Given the description of an element on the screen output the (x, y) to click on. 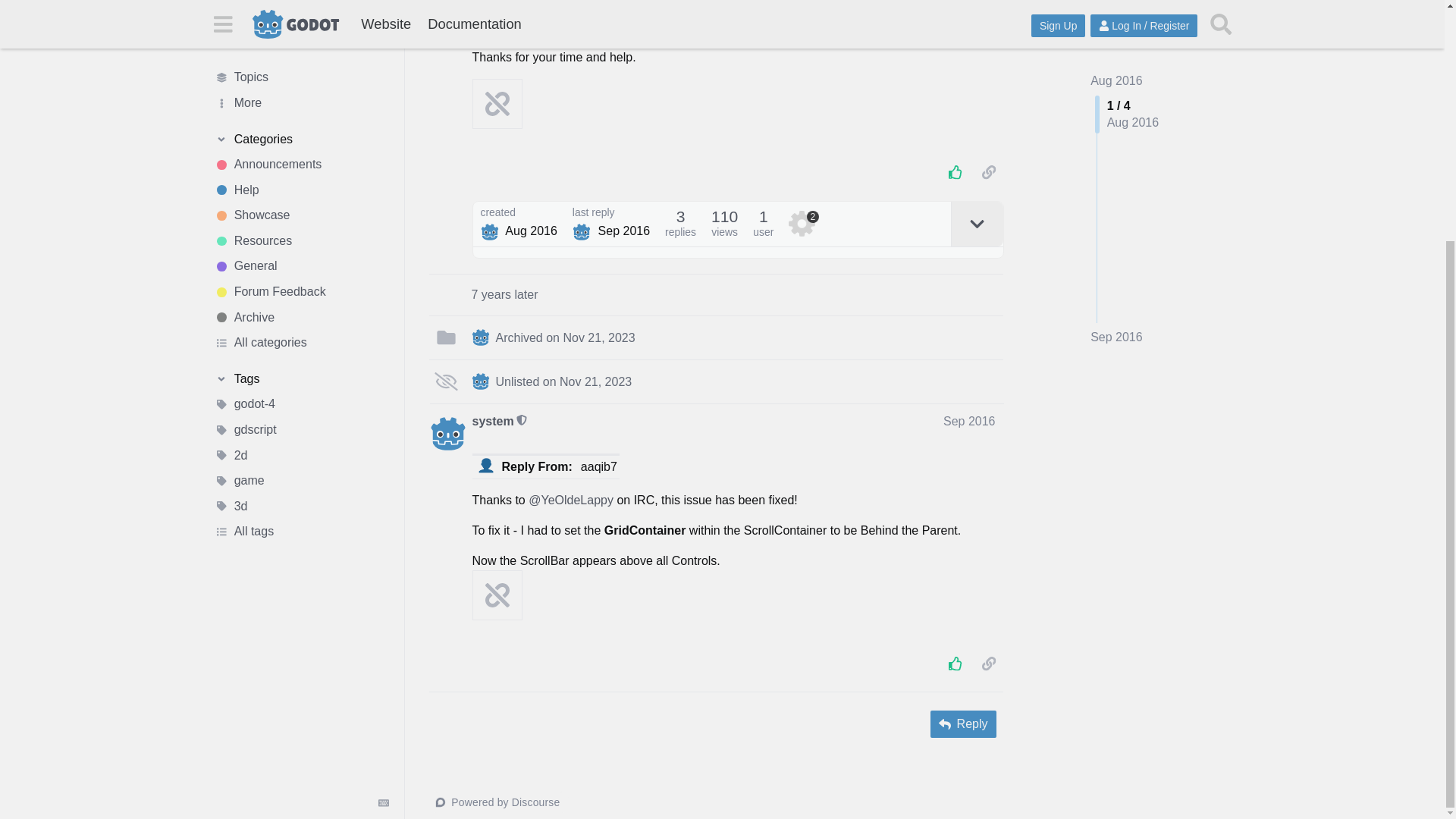
3d (301, 173)
2d (301, 122)
Toggle section (301, 45)
gdscript (301, 96)
Sep 2016 (1116, 50)
game (301, 148)
All categories (301, 11)
Tags (301, 45)
All tags (301, 199)
godot-4 (301, 71)
